Given the description of an element on the screen output the (x, y) to click on. 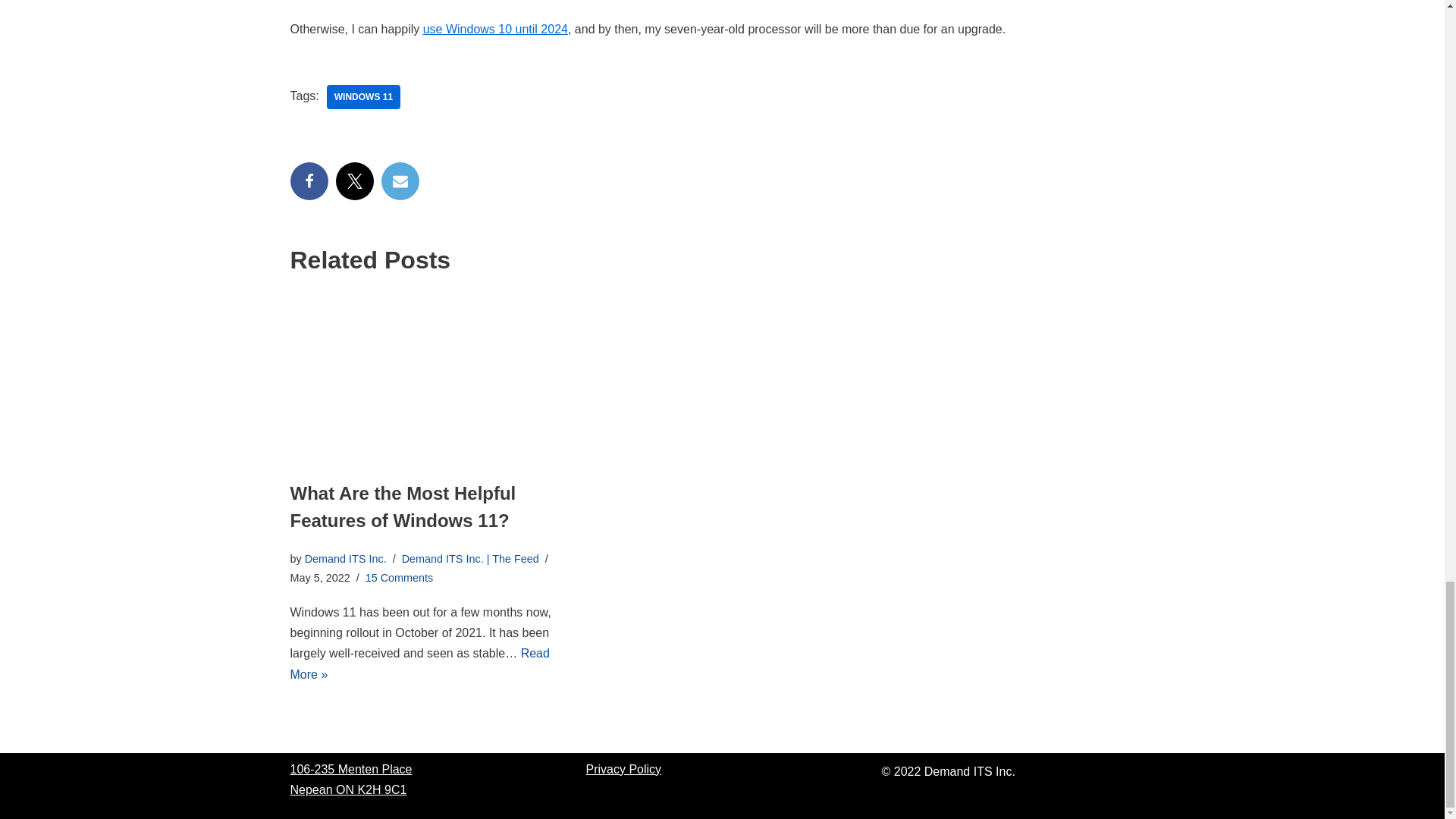
Posts by Demand ITS Inc. (345, 558)
use Windows 10 until 2024 (495, 29)
What Are the Most Helpful Features of Windows 11? (402, 506)
WINDOWS 11 (363, 96)
Demand ITS Inc. (345, 558)
Email (399, 180)
X (353, 180)
Facebook (308, 180)
Windows 11 (363, 96)
15 Comments (399, 577)
